Given the description of an element on the screen output the (x, y) to click on. 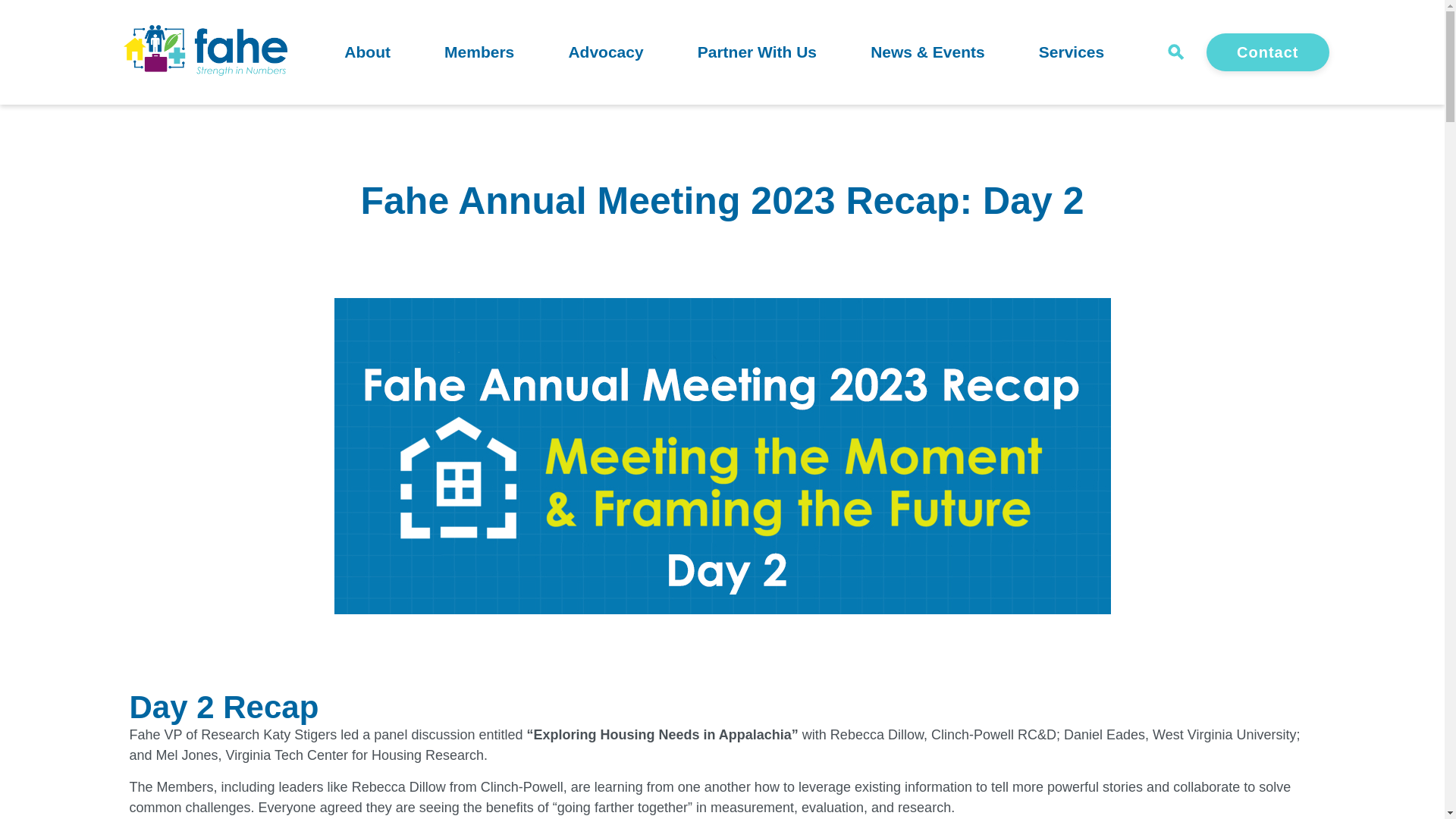
Services (1071, 53)
Members (478, 53)
Advocacy (605, 53)
Partner With Us (756, 53)
About (366, 53)
Contact (1267, 52)
